Given the description of an element on the screen output the (x, y) to click on. 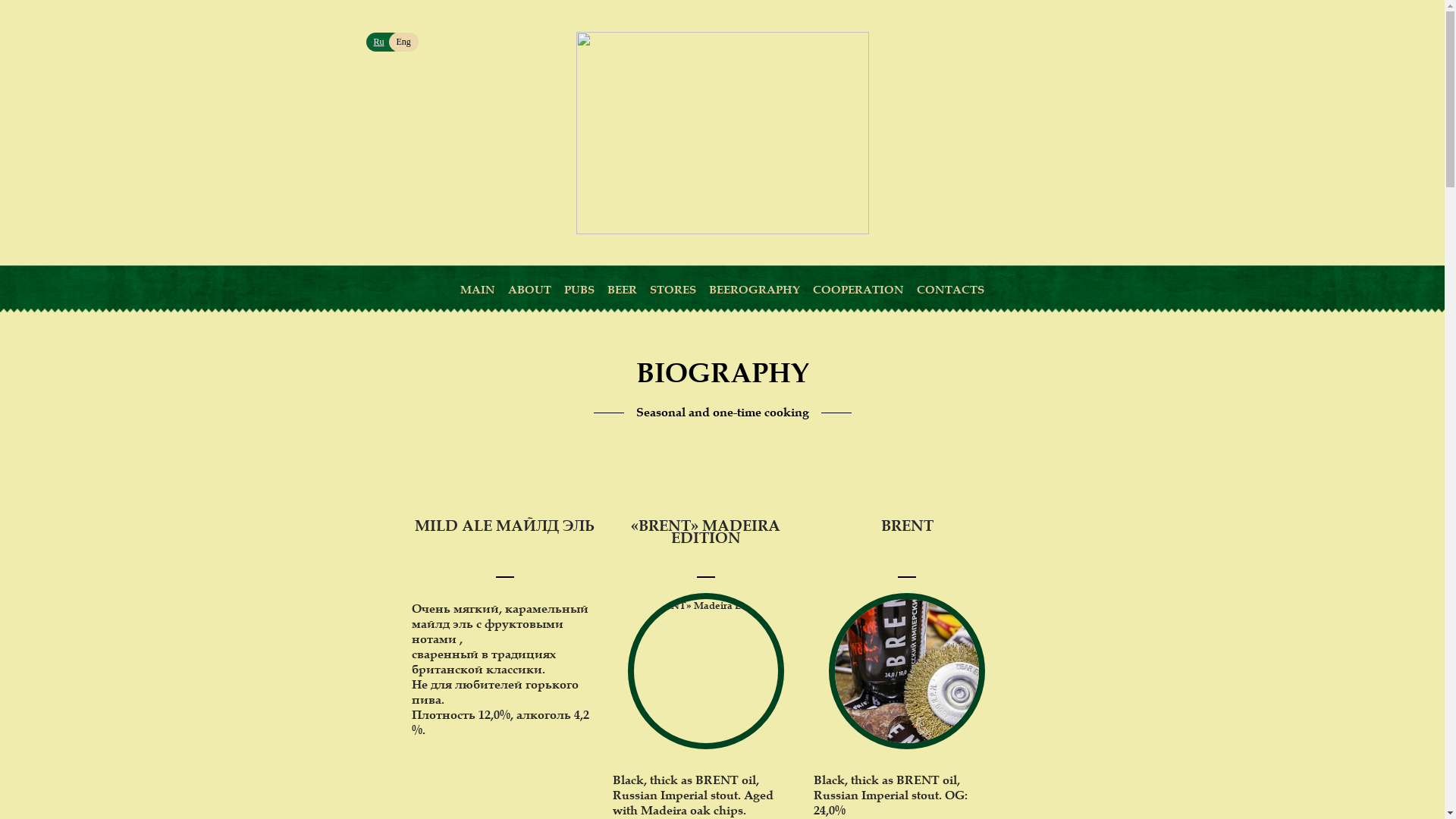
MAIN Element type: text (477, 289)
BEEROGRAPHY Element type: text (754, 289)
COOPERATION Element type: text (857, 289)
ABOUT Element type: text (529, 289)
Seasonal and one-time cooking Element type: text (721, 412)
Ru Element type: text (383, 41)
BEER Element type: text (622, 289)
STORES Element type: text (672, 289)
PUBS Element type: text (579, 289)
